Given the description of an element on the screen output the (x, y) to click on. 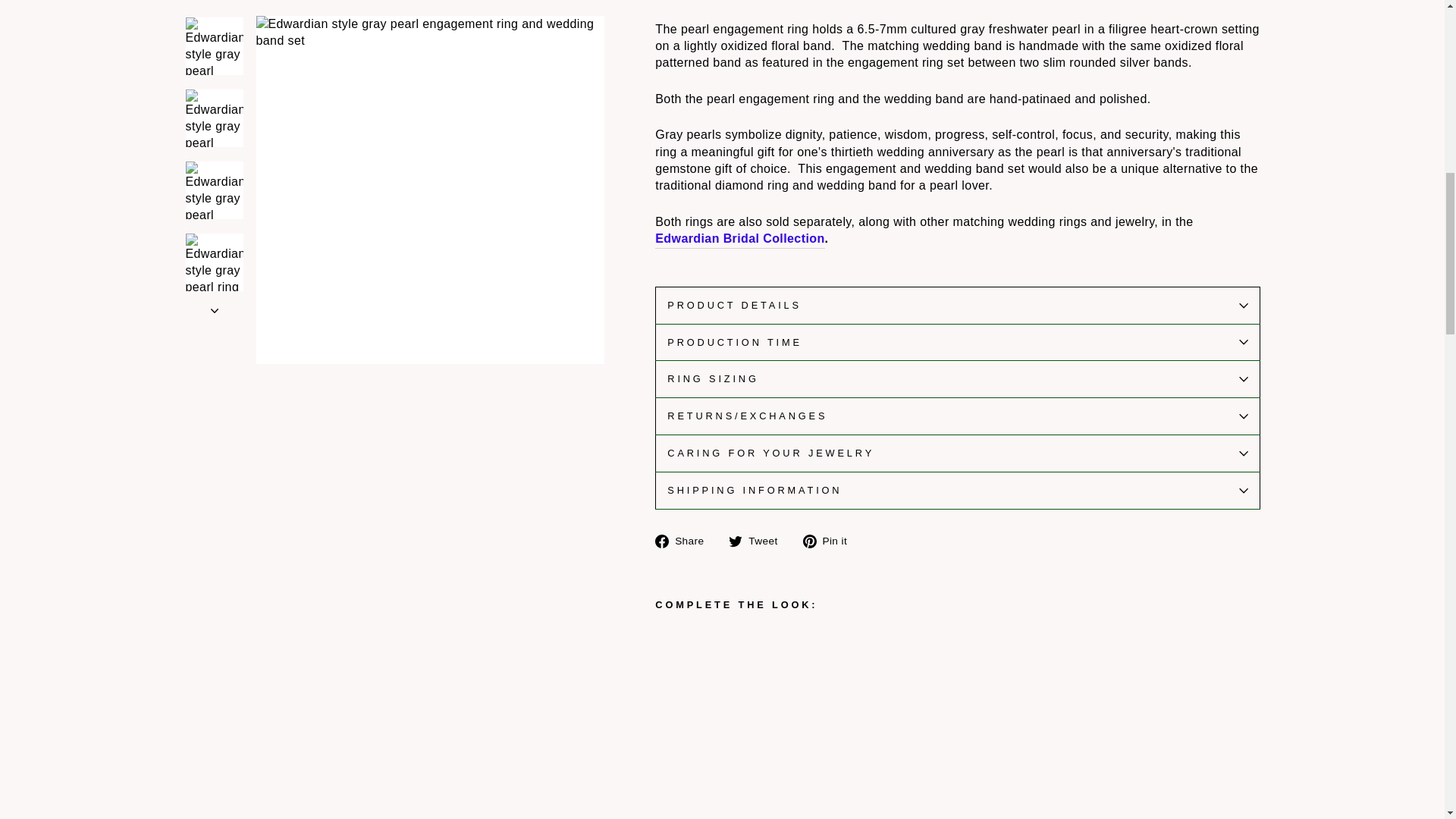
Tweet on Twitter (759, 540)
Share on Facebook (684, 540)
Edwardian Bridal Rings Collection (739, 239)
twitter (735, 540)
Pin on Pinterest (831, 540)
